Given the description of an element on the screen output the (x, y) to click on. 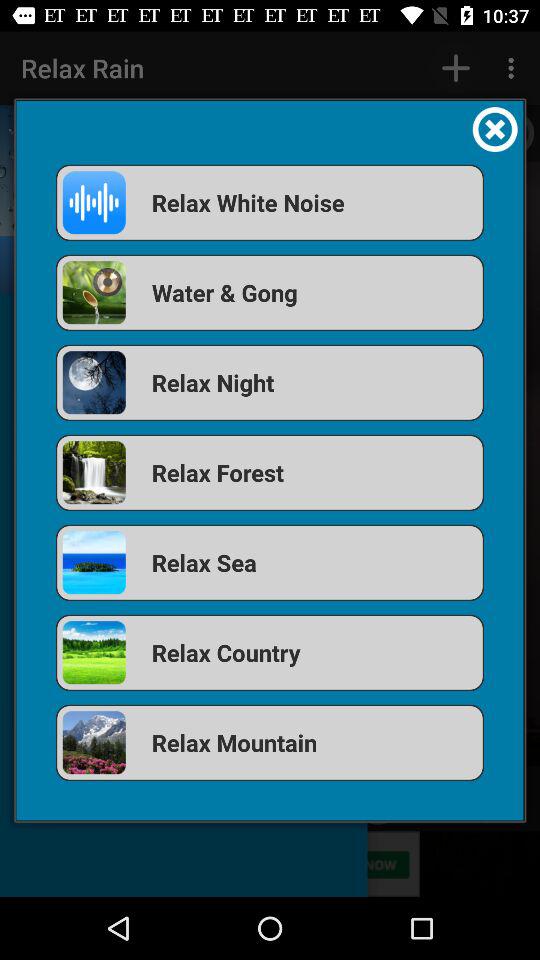
choose relax night icon (269, 382)
